Given the description of an element on the screen output the (x, y) to click on. 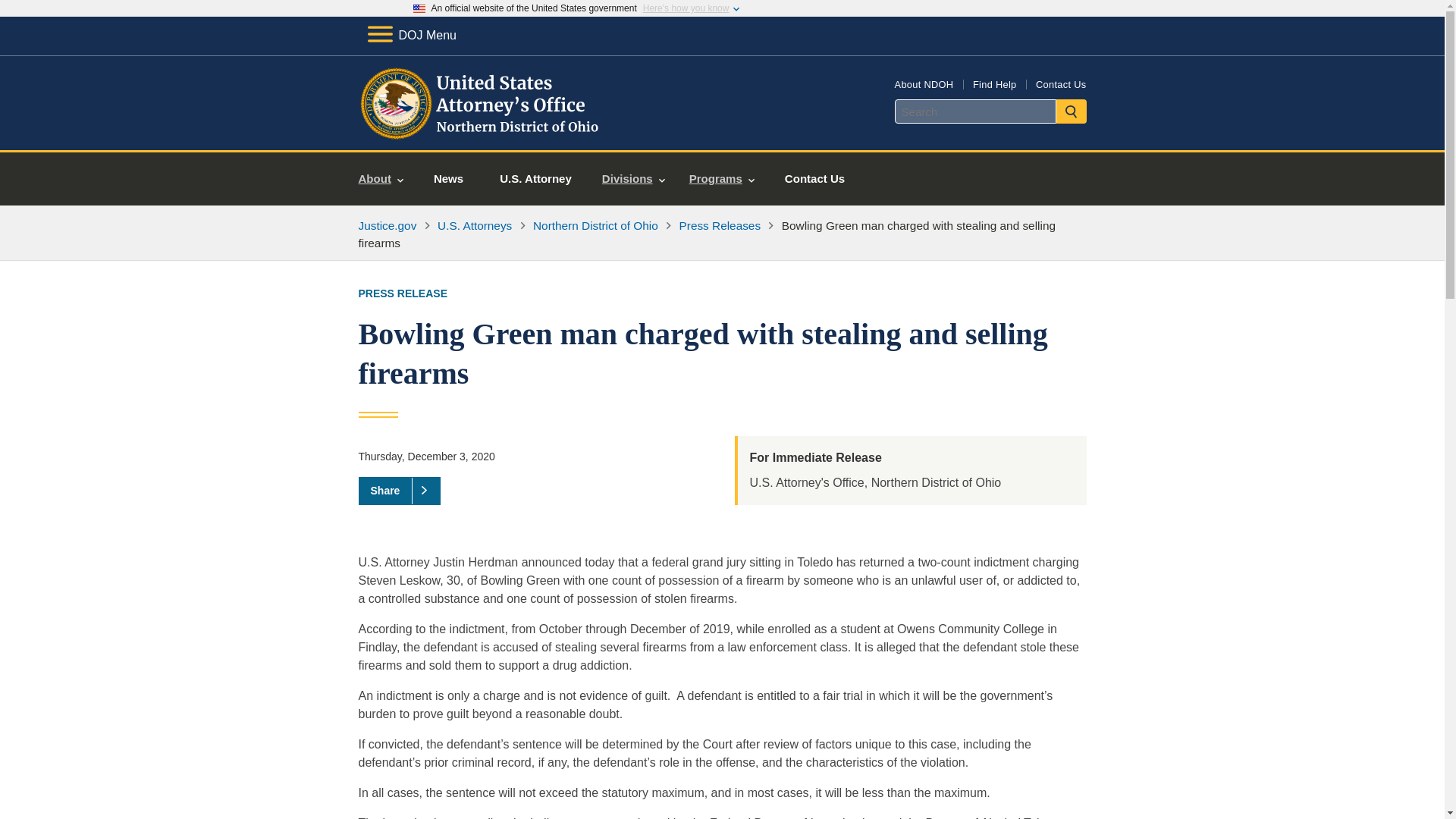
Here's how you know (686, 8)
Contact Us (1060, 84)
U.S. Attorneys (475, 225)
Home (481, 132)
Programs (722, 179)
About (380, 179)
News (447, 179)
Justice.gov (387, 225)
Northern District of Ohio (595, 225)
Find Help (994, 84)
